Given the description of an element on the screen output the (x, y) to click on. 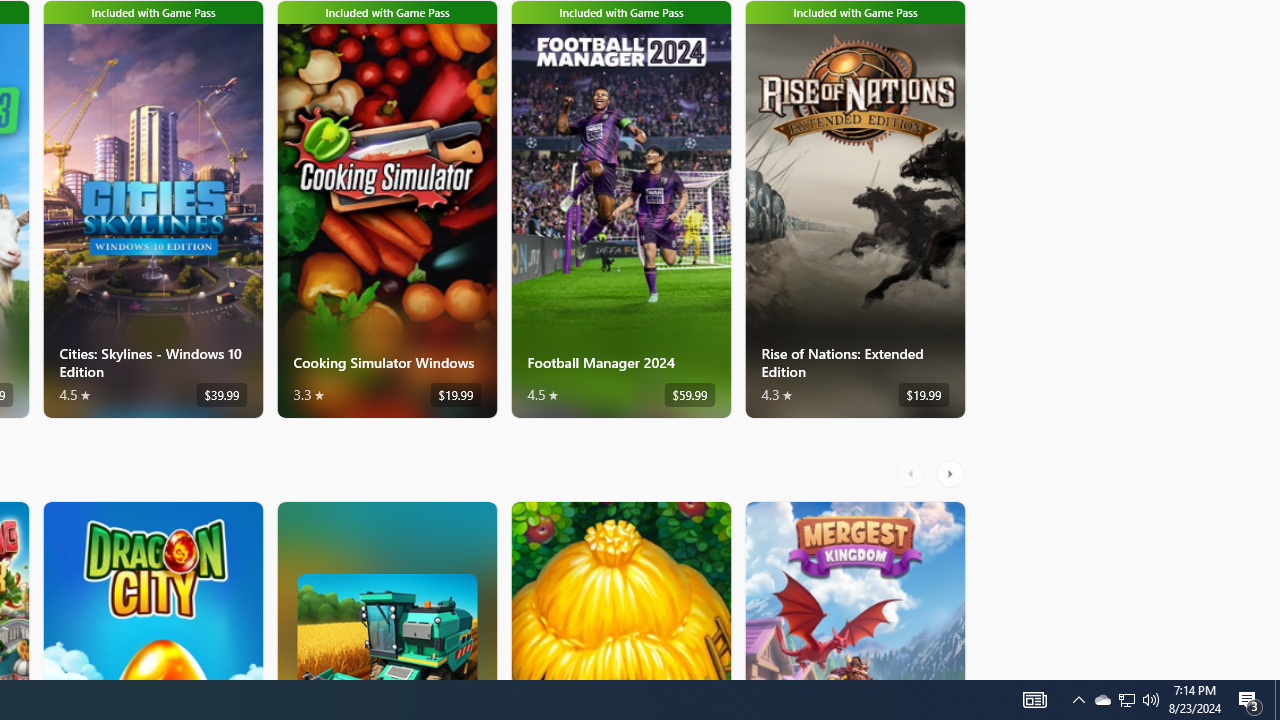
Dragon City. Average rating of 4.5 out of five stars. Free   (152, 590)
The Tribez. Average rating of 4.6 out of five stars. Free   (620, 590)
AutomationID: LeftScrollButton (913, 473)
AutomationID: RightScrollButton (952, 473)
